Given the description of an element on the screen output the (x, y) to click on. 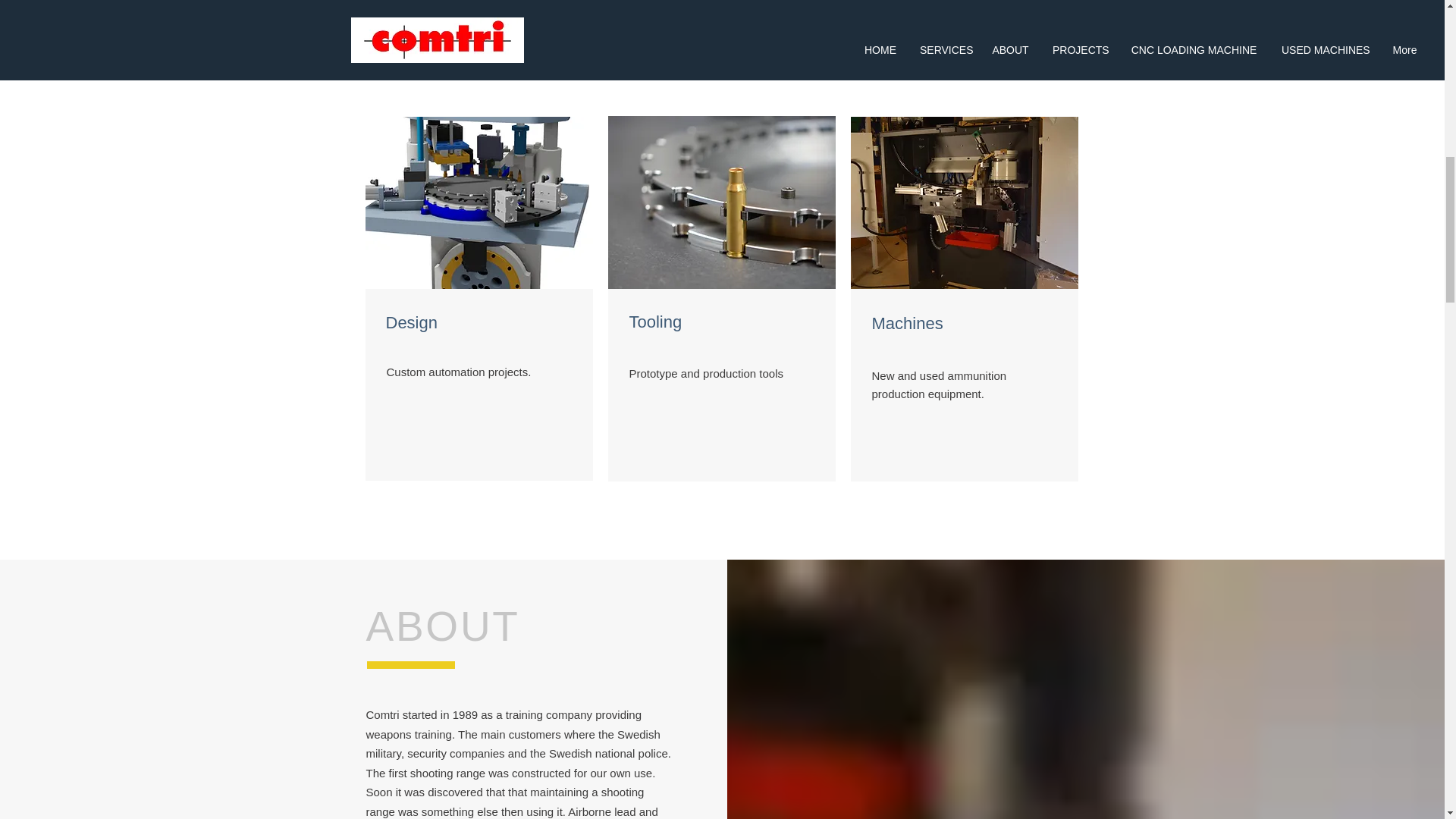
10.jpg (478, 203)
